Given the description of an element on the screen output the (x, y) to click on. 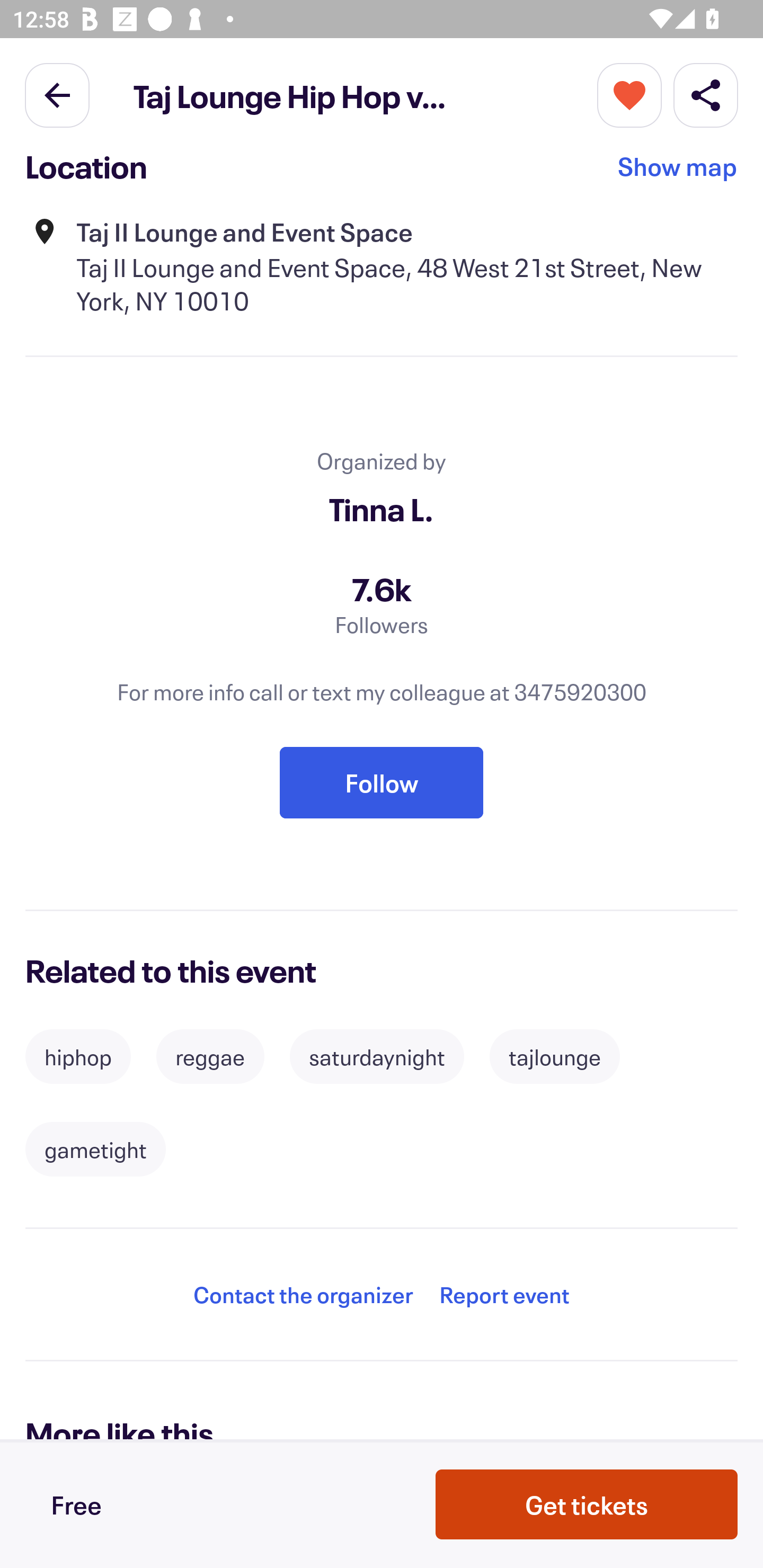
Back (57, 94)
More (629, 94)
Share (705, 94)
Show map (677, 171)
Tinna L. (381, 508)
Follow (381, 782)
hiphop (78, 1056)
reggae (210, 1056)
saturdaynight (376, 1056)
tajlounge (554, 1056)
gametight (95, 1148)
Contact the organizer (303, 1293)
Report event (504, 1293)
Get tickets (586, 1504)
